Given the description of an element on the screen output the (x, y) to click on. 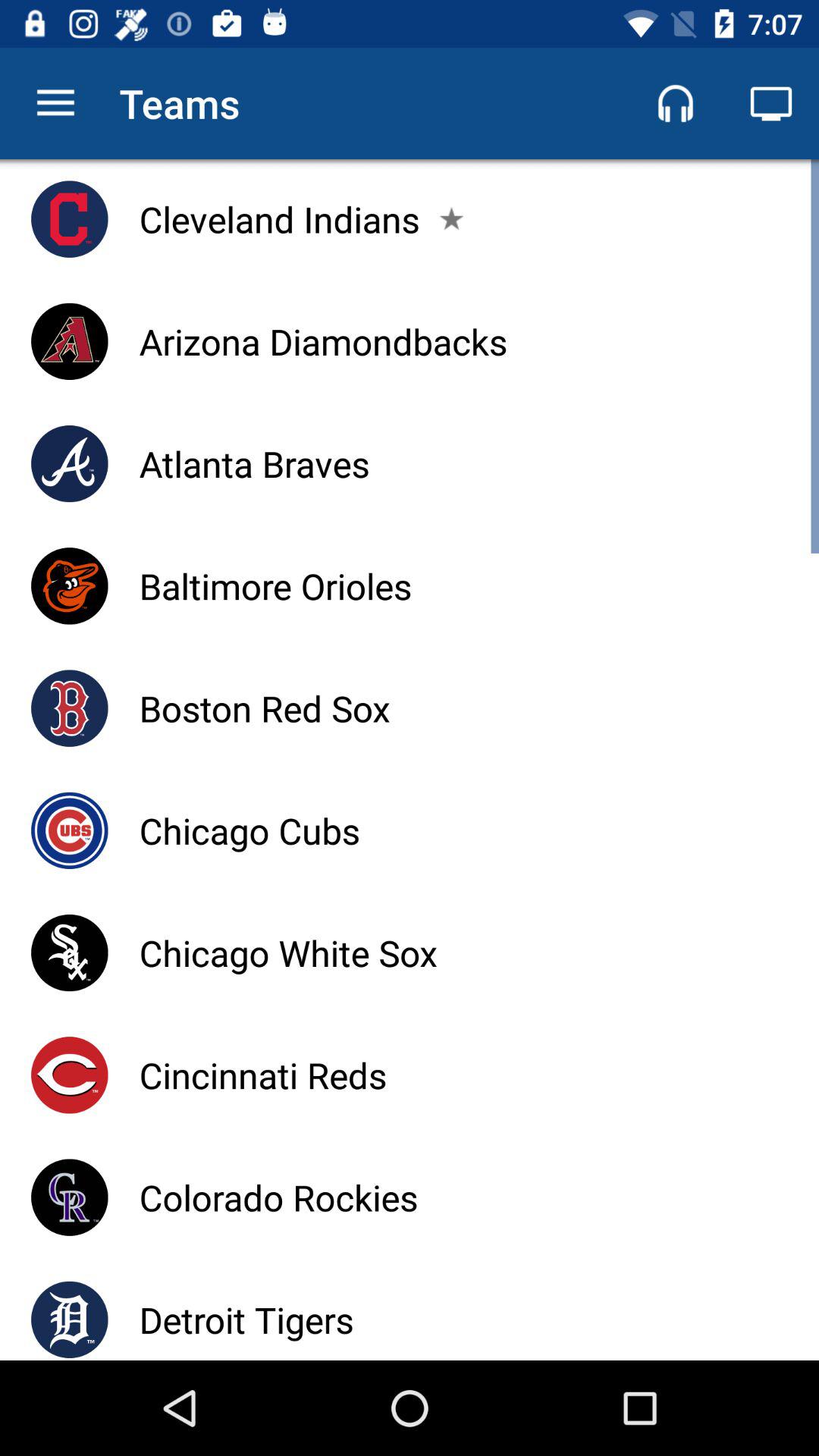
launch icon to the right of teams app (675, 103)
